Given the description of an element on the screen output the (x, y) to click on. 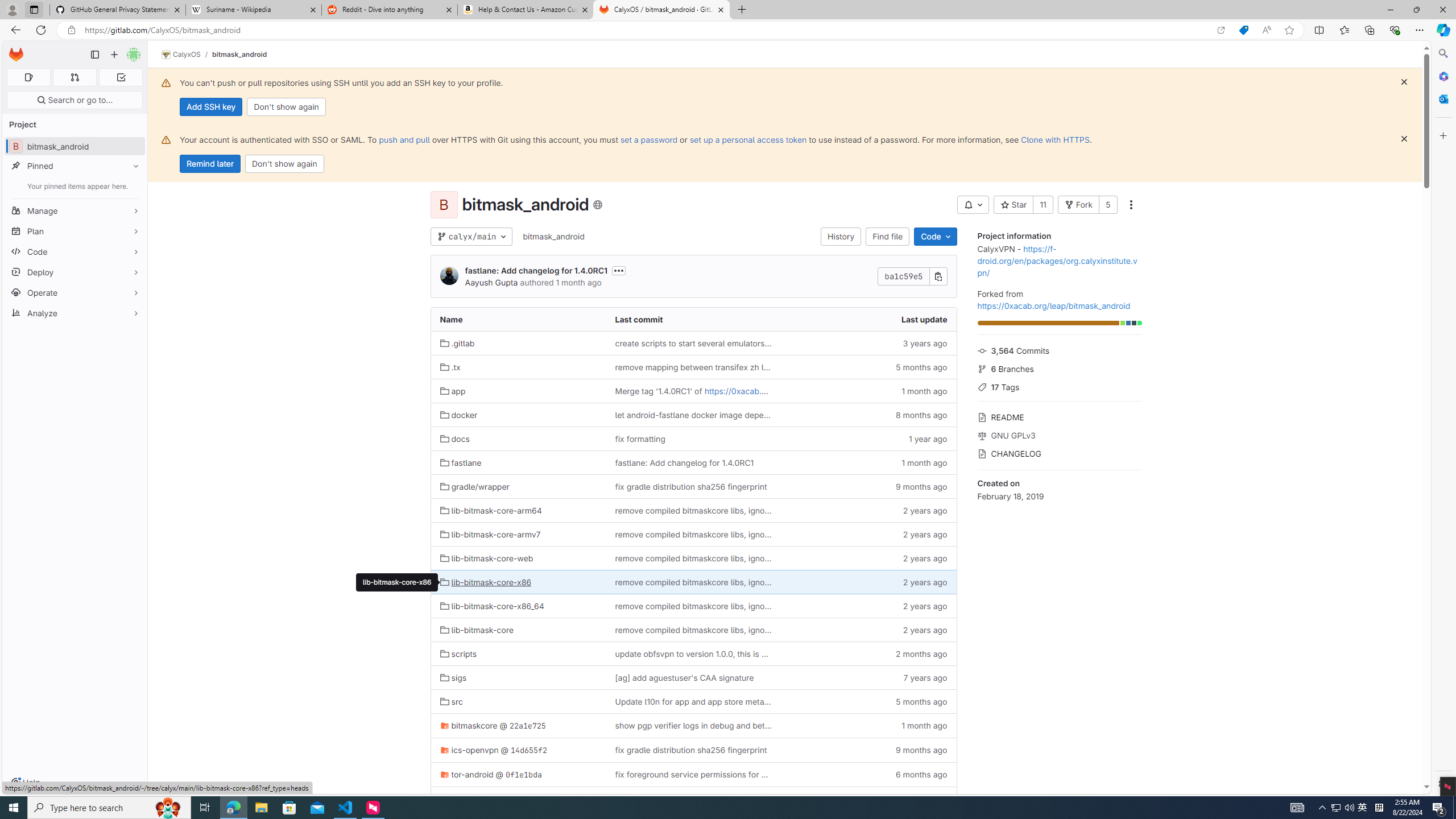
App bar (728, 29)
5 (1107, 204)
lib-bitmask-core-armv7 (517, 534)
Aayush Gupta (491, 282)
tor-android @ 0f1e1bda (517, 774)
Side bar (1443, 418)
Homepage (16, 54)
B bitmask_android (74, 145)
Deploy (74, 271)
ignore ruby vendor directory, needed for fastlane (692, 798)
